Given the description of an element on the screen output the (x, y) to click on. 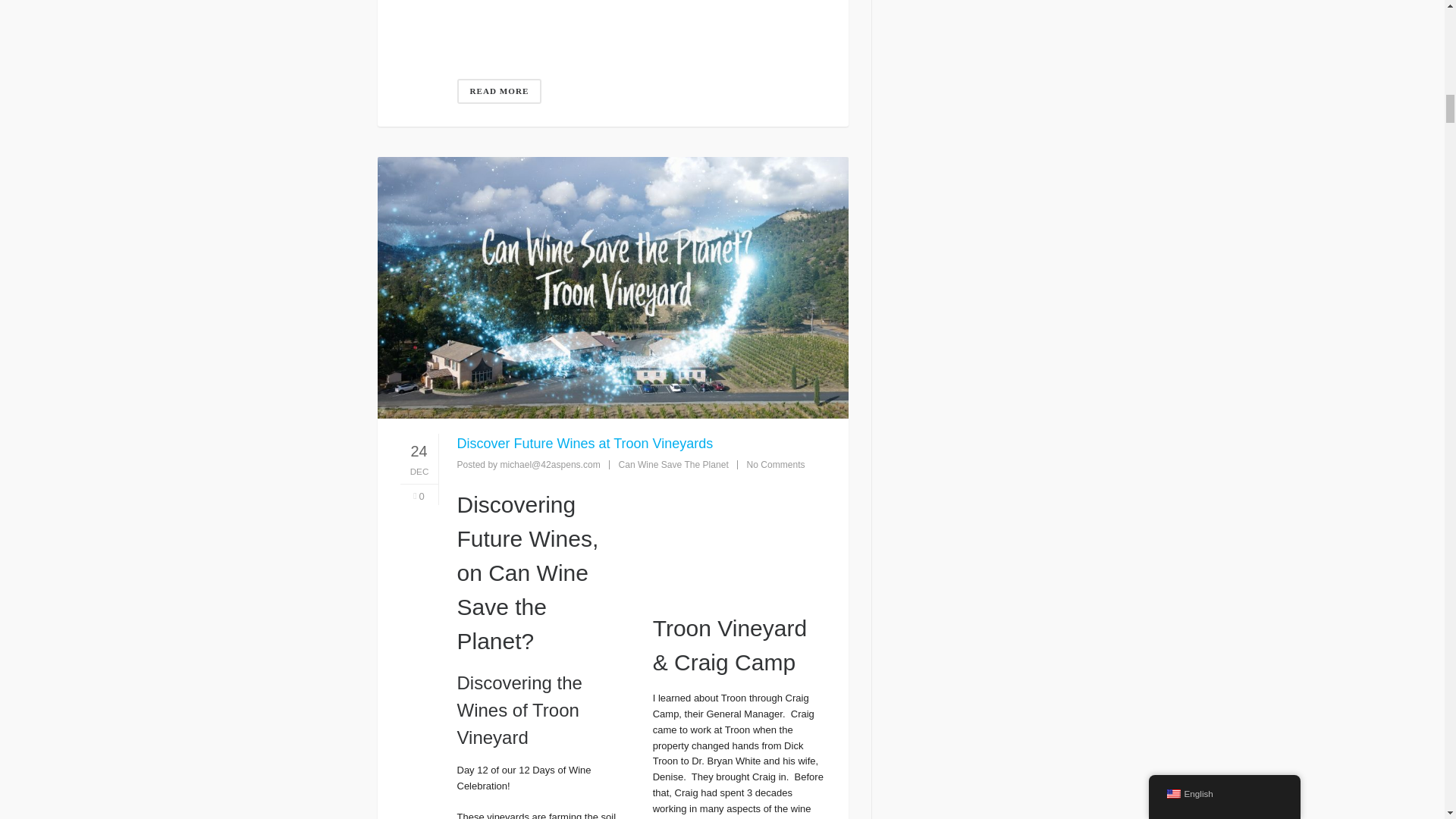
Discover Future Wines at Troon Vineyards (585, 443)
READ MORE (499, 91)
Can Wine Save The Planet (672, 464)
No Comments (775, 464)
Can Wine Save the Planet, Documentary Project Funding Video (641, 16)
Like this post. Discover Future Wines at Troon Vineyards (419, 496)
Discover Future Wines at Troon Vineyards (738, 535)
